Given the description of an element on the screen output the (x, y) to click on. 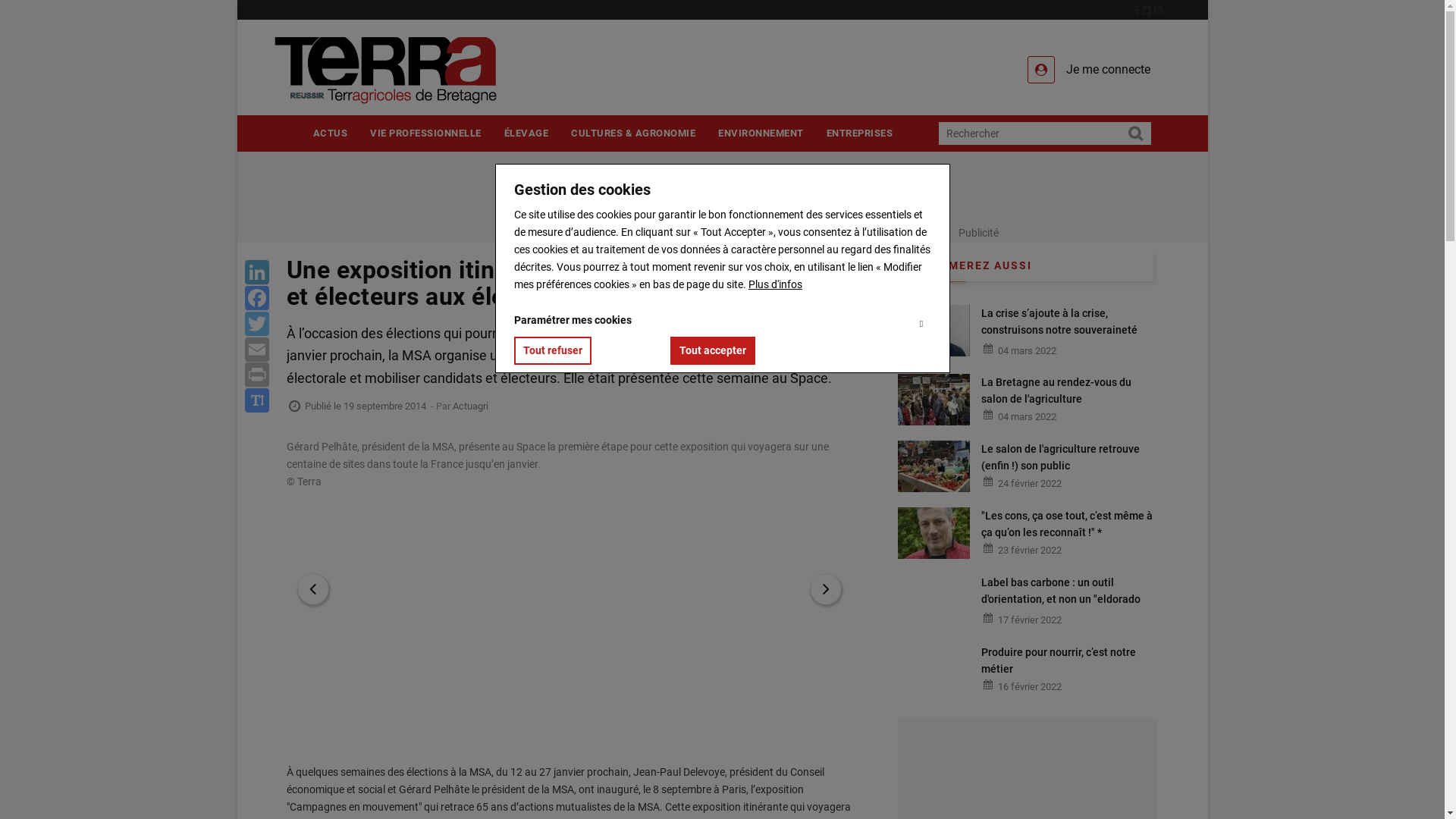
Aller au contenu principal Element type: text (236, 0)
ACTUS Element type: text (330, 132)
Email Element type: text (256, 349)
Twitter Element type: text (256, 323)
Tout accepter Element type: text (712, 350)
Je me connecte Element type: text (1088, 69)
LinkedIn Element type: text (256, 272)
Tout refuser Element type: text (552, 350)
Le salon de l'agriculture retrouve (enfin !) son public Element type: text (1069, 456)
VIE PROFESSIONNELLE Element type: text (425, 132)
Accueil Element type: hover (410, 69)
La Bretagne au rendez-vous du salon de l'agriculture Element type: text (1069, 390)
CULTURES & AGRONOMIE Element type: text (632, 132)
ENTREPRISES Element type: text (858, 132)
Print Element type: text (256, 375)
Plus d'infos Element type: text (775, 284)
Facebook Element type: text (256, 297)
ENVIRONNEMENT Element type: text (760, 132)
